Given the description of an element on the screen output the (x, y) to click on. 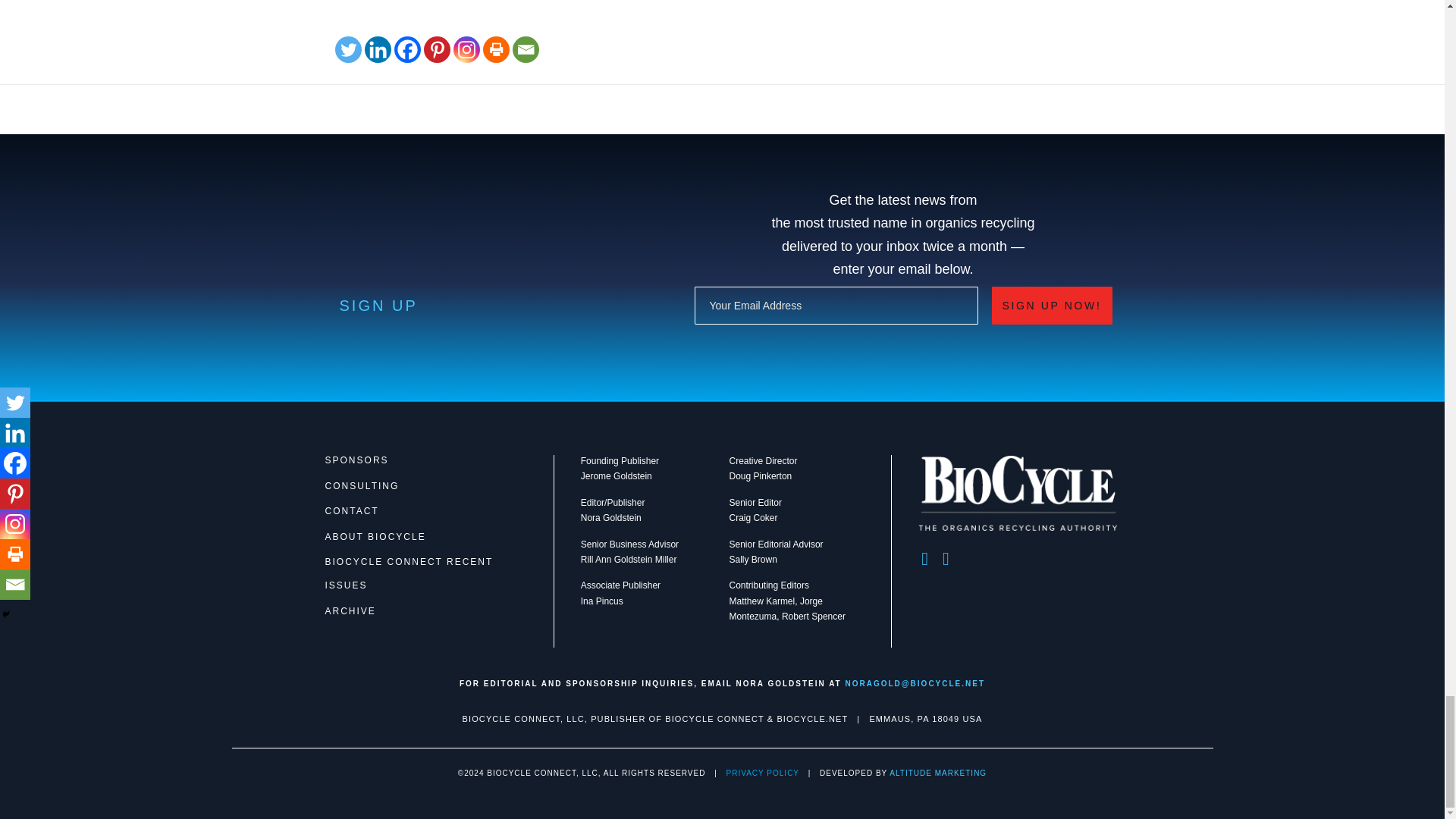
Instagram (466, 49)
Facebook (407, 49)
Linkedin (378, 49)
Sign Up Now! (1051, 305)
Twitter (347, 49)
Print (496, 49)
Pinterest (436, 49)
Email (525, 49)
